Given the description of an element on the screen output the (x, y) to click on. 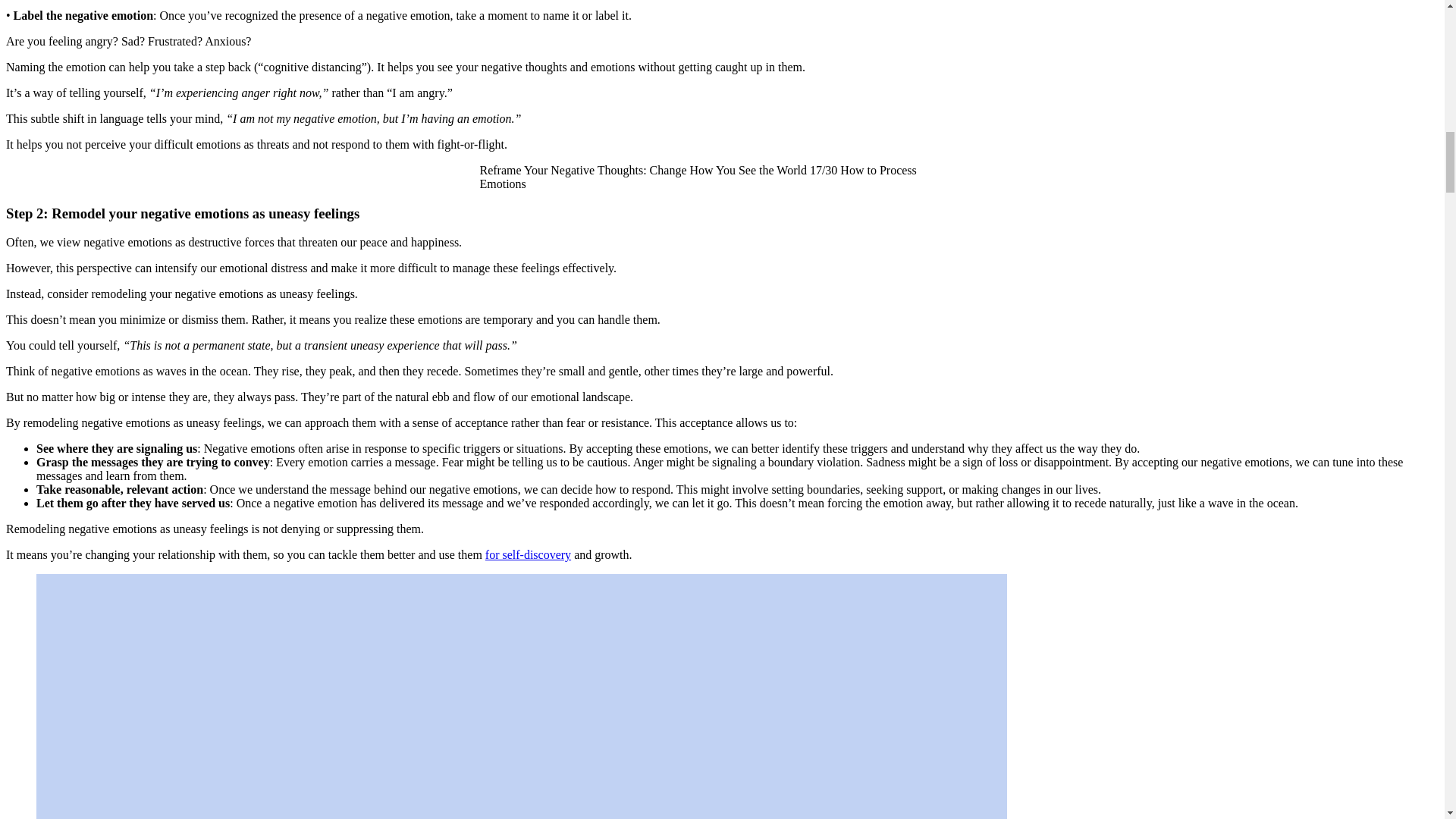
for self-discovery (527, 554)
